Given the description of an element on the screen output the (x, y) to click on. 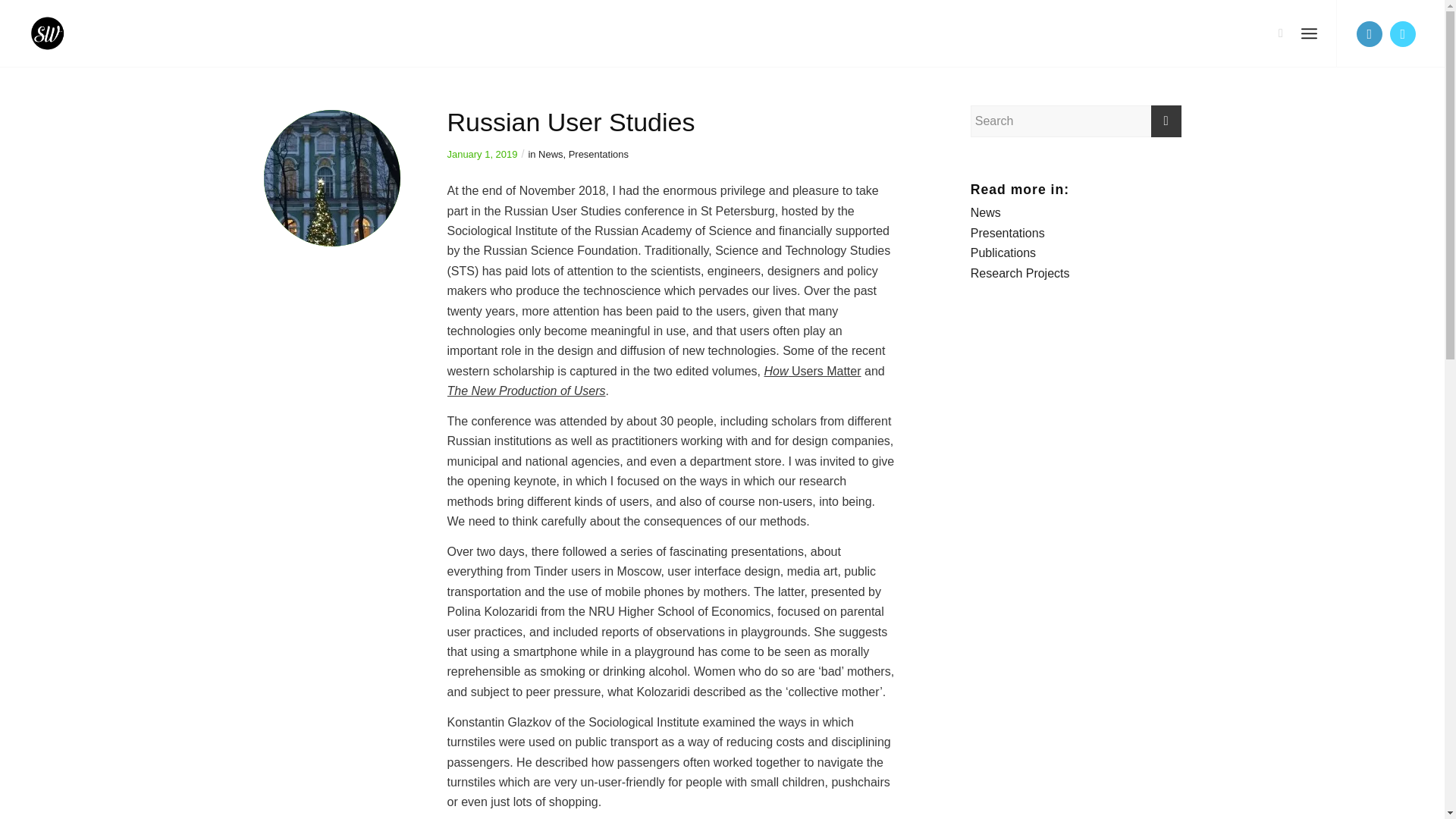
Logo Sally Wyatt 171114 (62, 33)
News (550, 153)
News (986, 212)
Hermitage (331, 177)
Click to start search (1165, 121)
How Users Matter (812, 370)
The New Production of Users (525, 390)
Research Projects (1020, 273)
LinkedIn (1368, 33)
Publications (1003, 252)
